Given the description of an element on the screen output the (x, y) to click on. 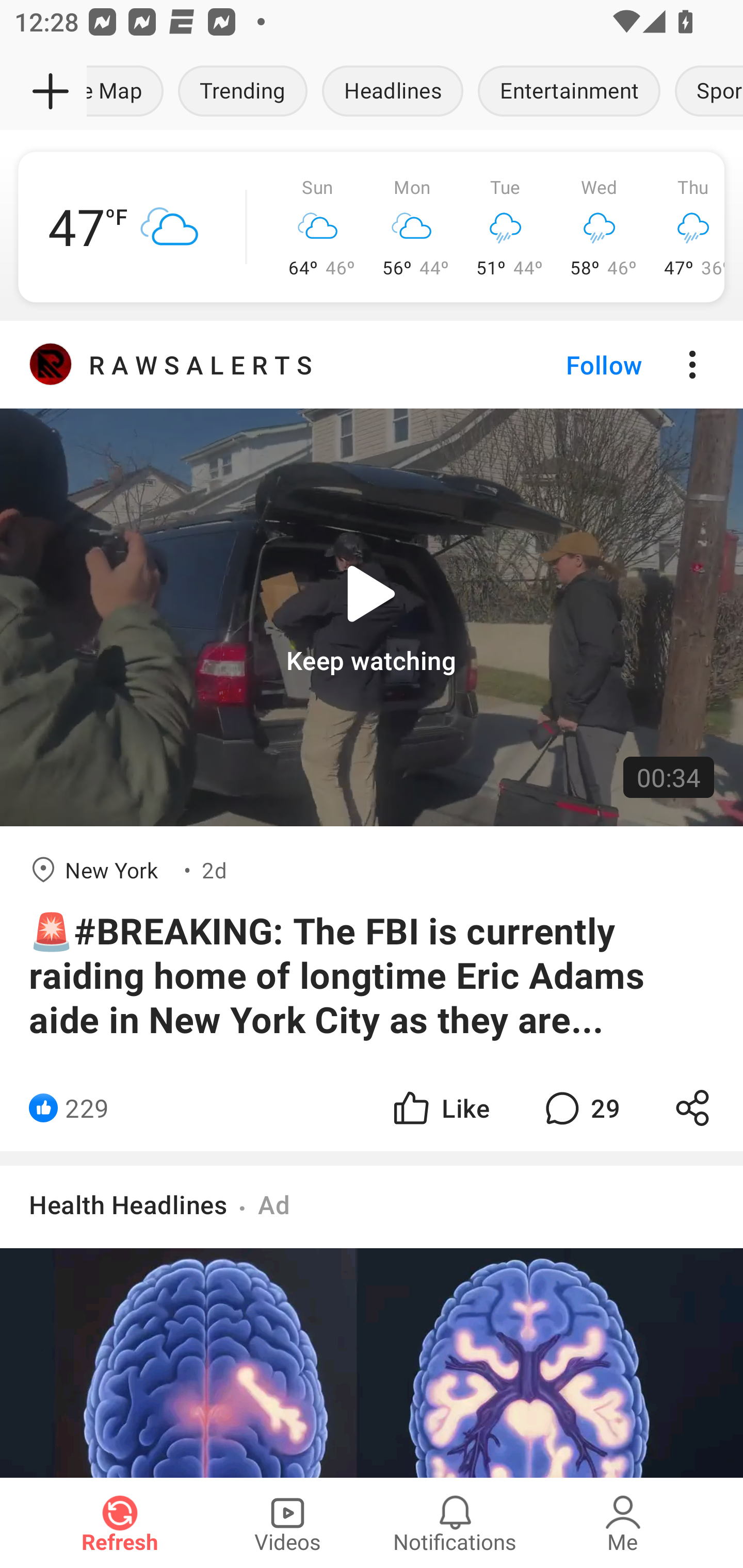
Crime Map (128, 91)
Trending (242, 91)
Headlines (392, 91)
Entertainment (568, 91)
Sun 64º 46º (317, 227)
Mon 56º 44º (411, 227)
Tue 51º 44º (505, 227)
Wed 58º 46º (599, 227)
Thu 47º 36º (685, 227)
R A W S A L E R T S Follow (371, 365)
Follow (569, 365)
229 (87, 1107)
Like (439, 1107)
29 (579, 1107)
Health Headlines (127, 1203)
Videos (287, 1522)
Notifications (455, 1522)
Me (622, 1522)
